Given the description of an element on the screen output the (x, y) to click on. 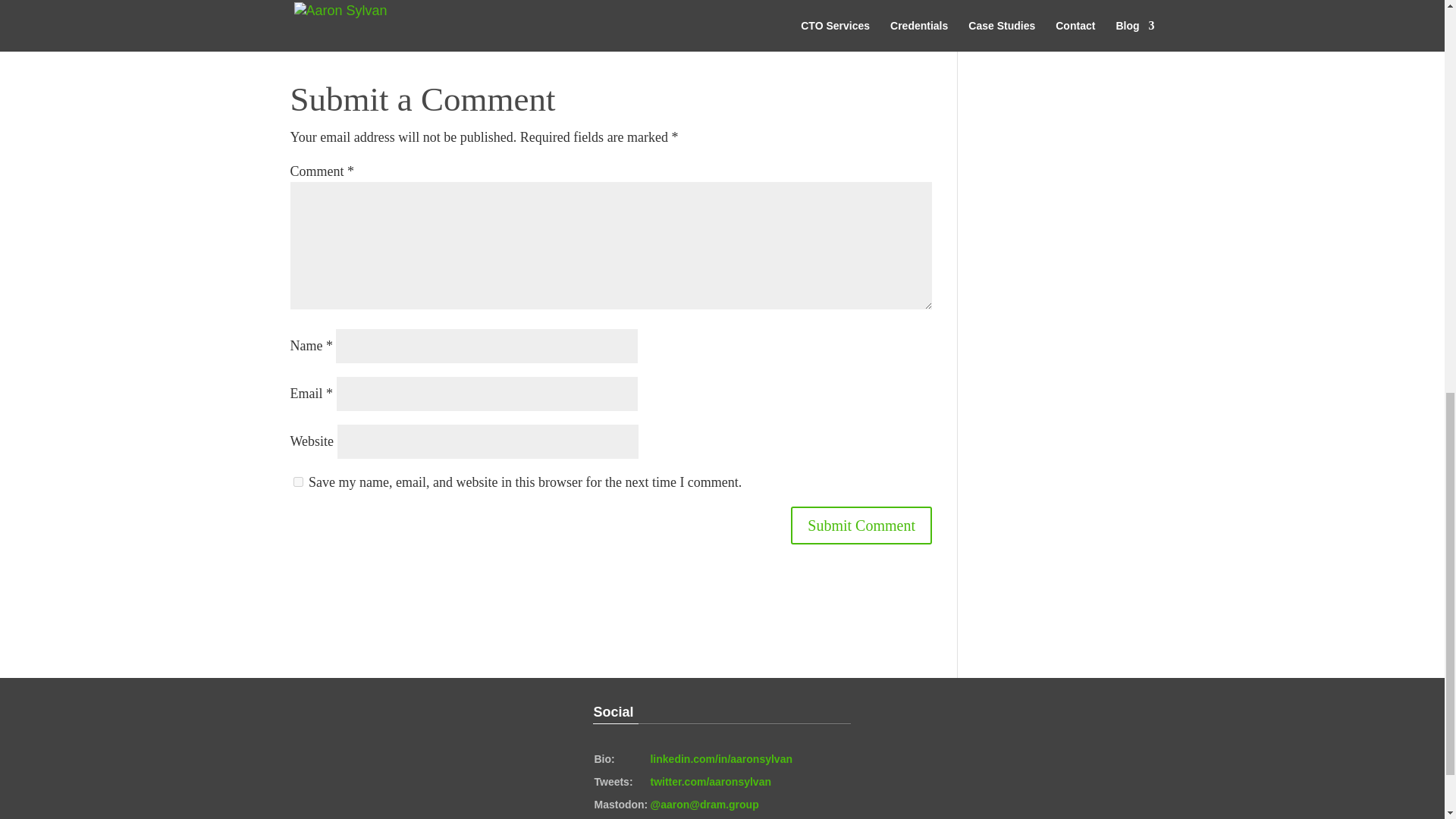
Mastodon is my preferred new social channel! (703, 804)
Submit Comment (860, 525)
yes (297, 481)
Submit Comment (860, 525)
I check LinkedIn every few days. (720, 758)
